Given the description of an element on the screen output the (x, y) to click on. 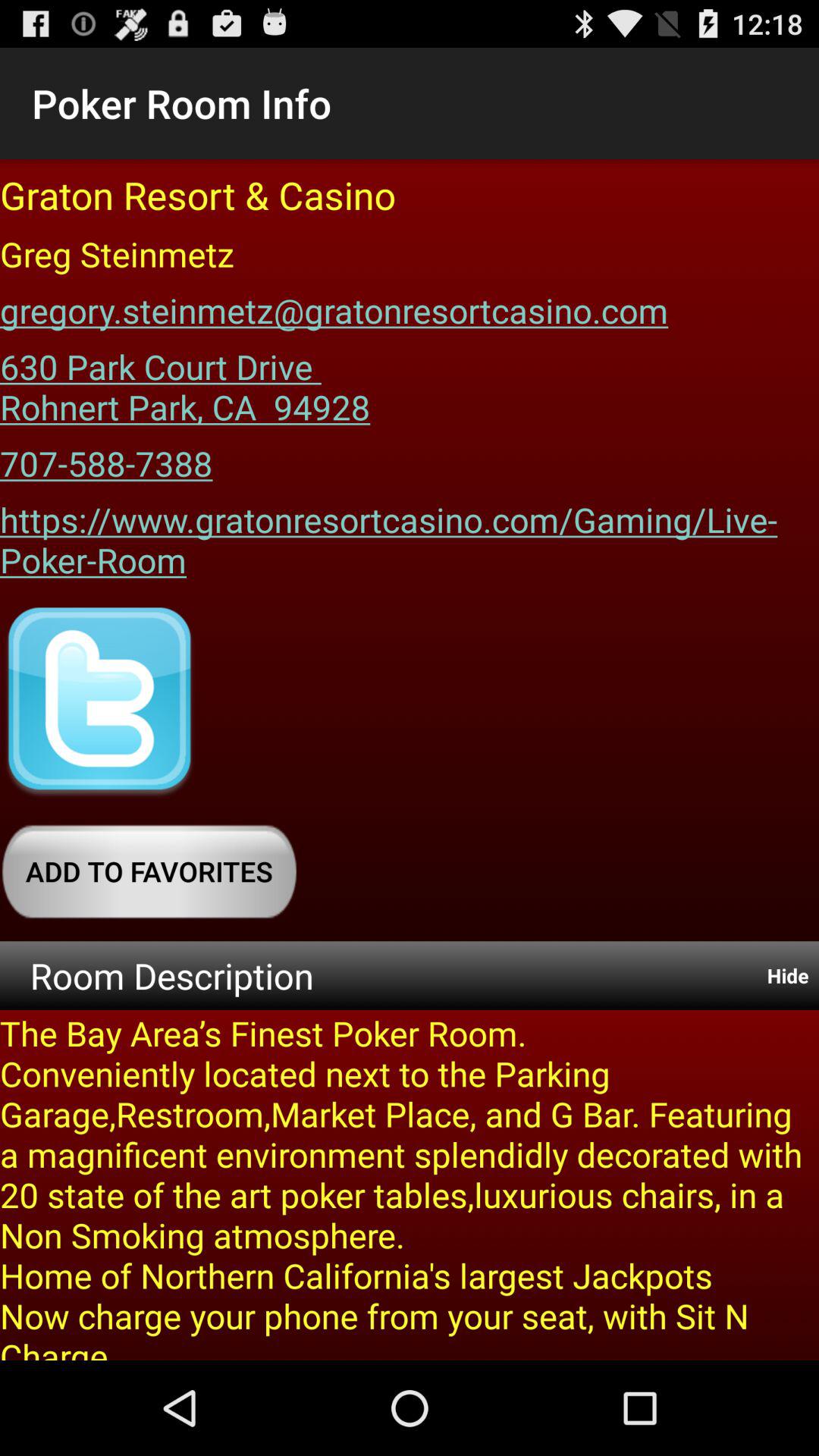
tweet link (99, 701)
